Given the description of an element on the screen output the (x, y) to click on. 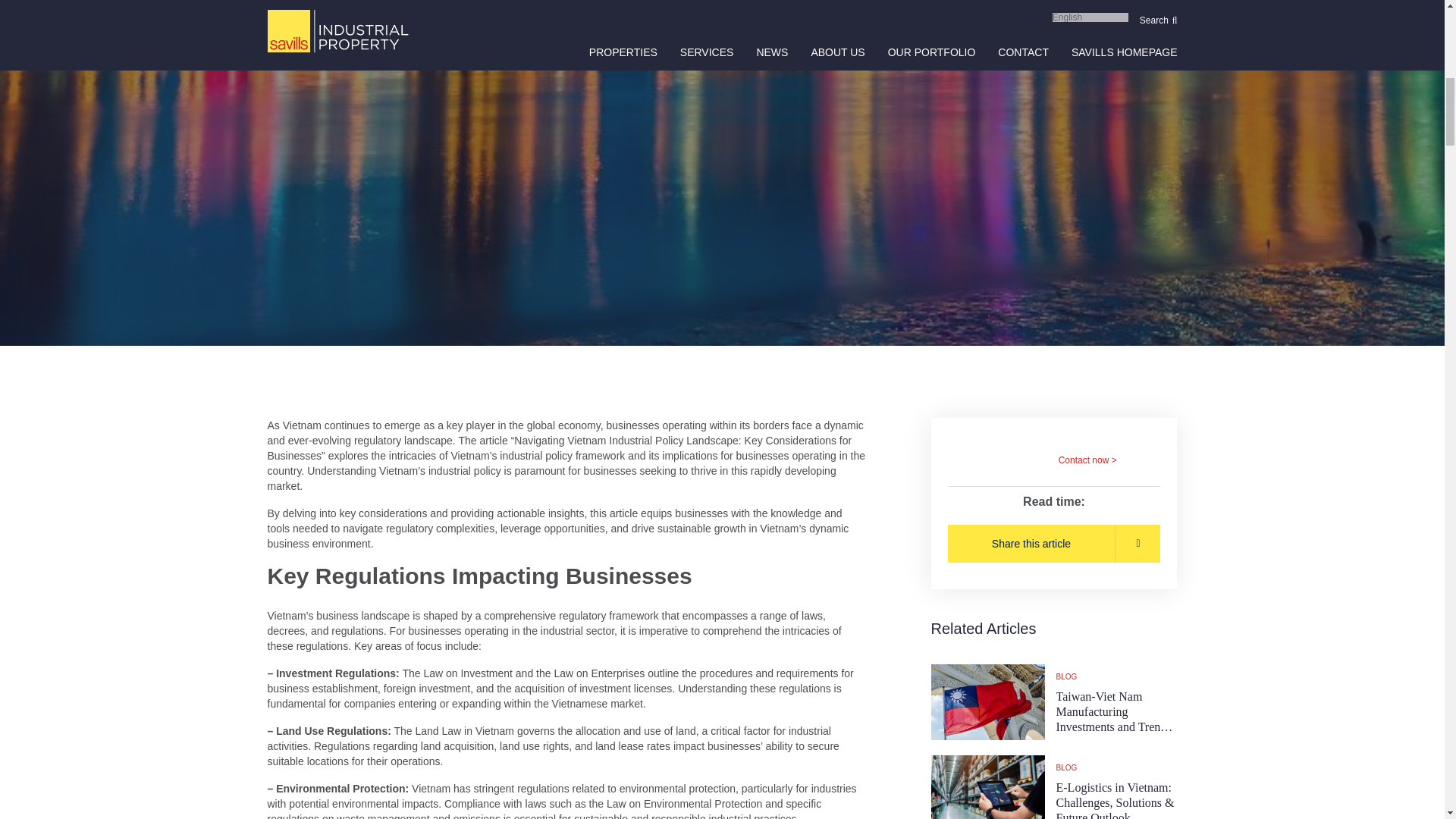
BLOG (1115, 677)
Share this article (1053, 543)
BLOG (1115, 768)
